Given the description of an element on the screen output the (x, y) to click on. 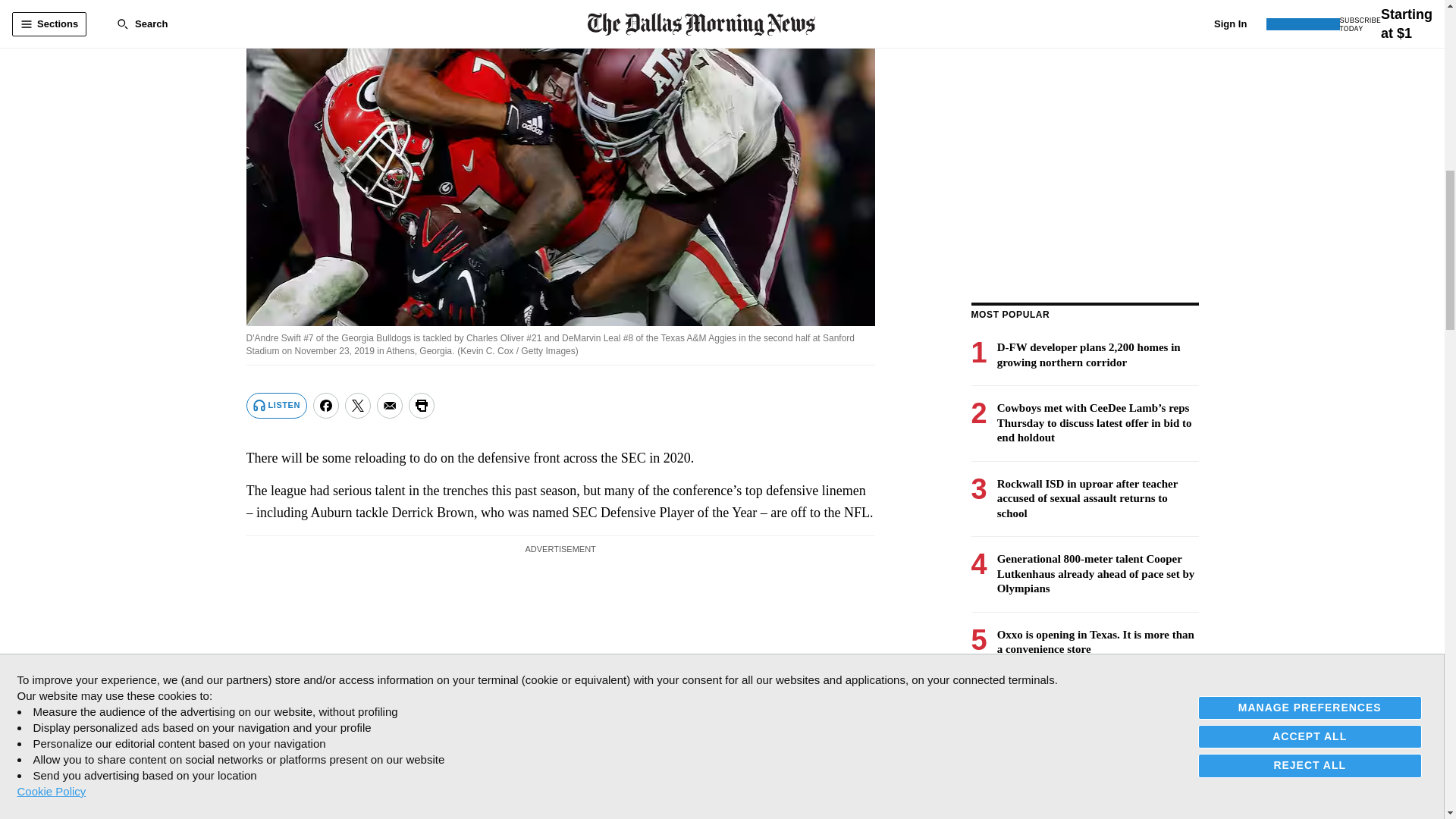
Share on Twitter (358, 405)
Share on Facebook (326, 405)
Share via Email (390, 405)
Print (421, 405)
